Given the description of an element on the screen output the (x, y) to click on. 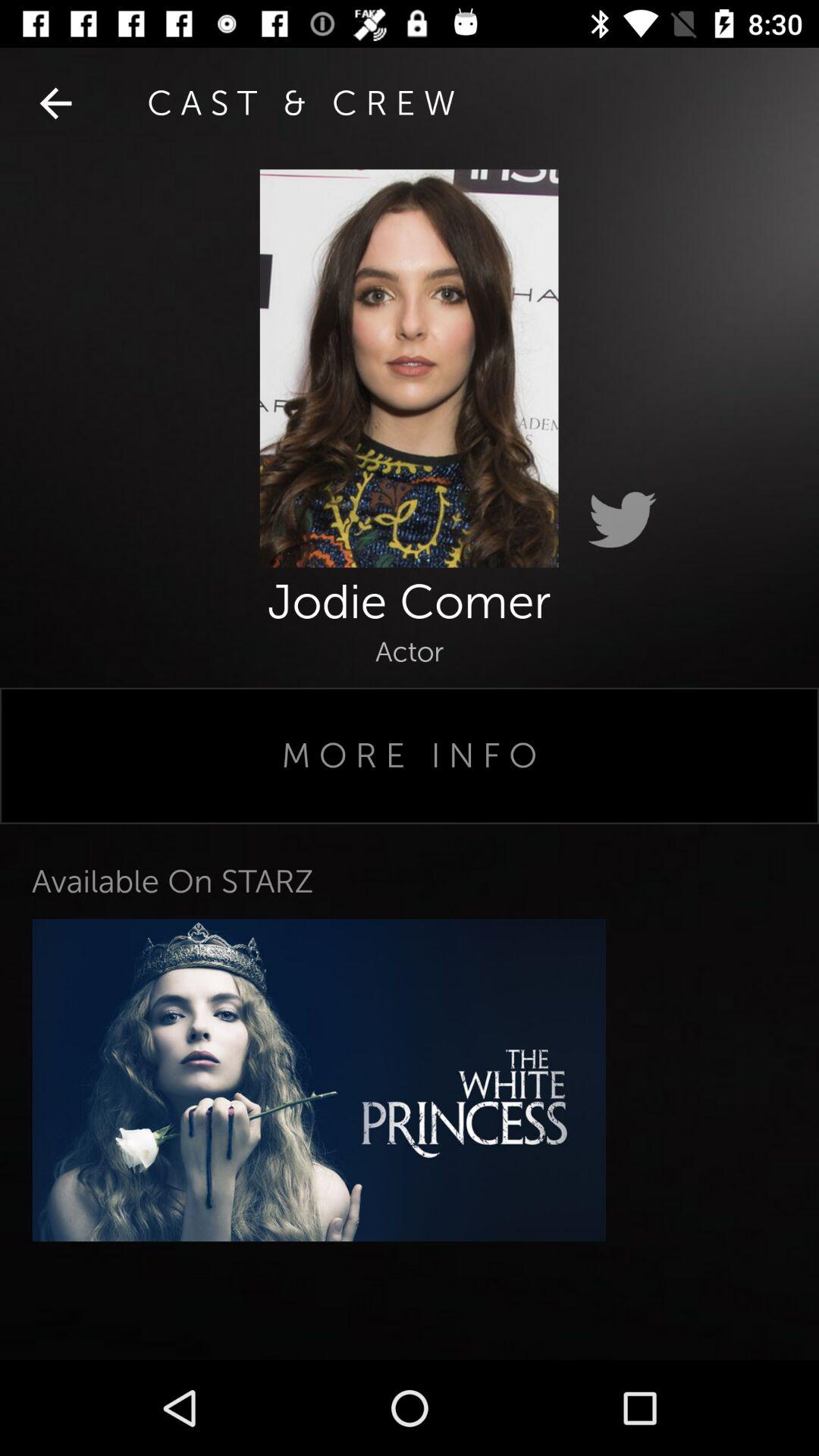
tap the icon above the actor (55, 103)
